Given the description of an element on the screen output the (x, y) to click on. 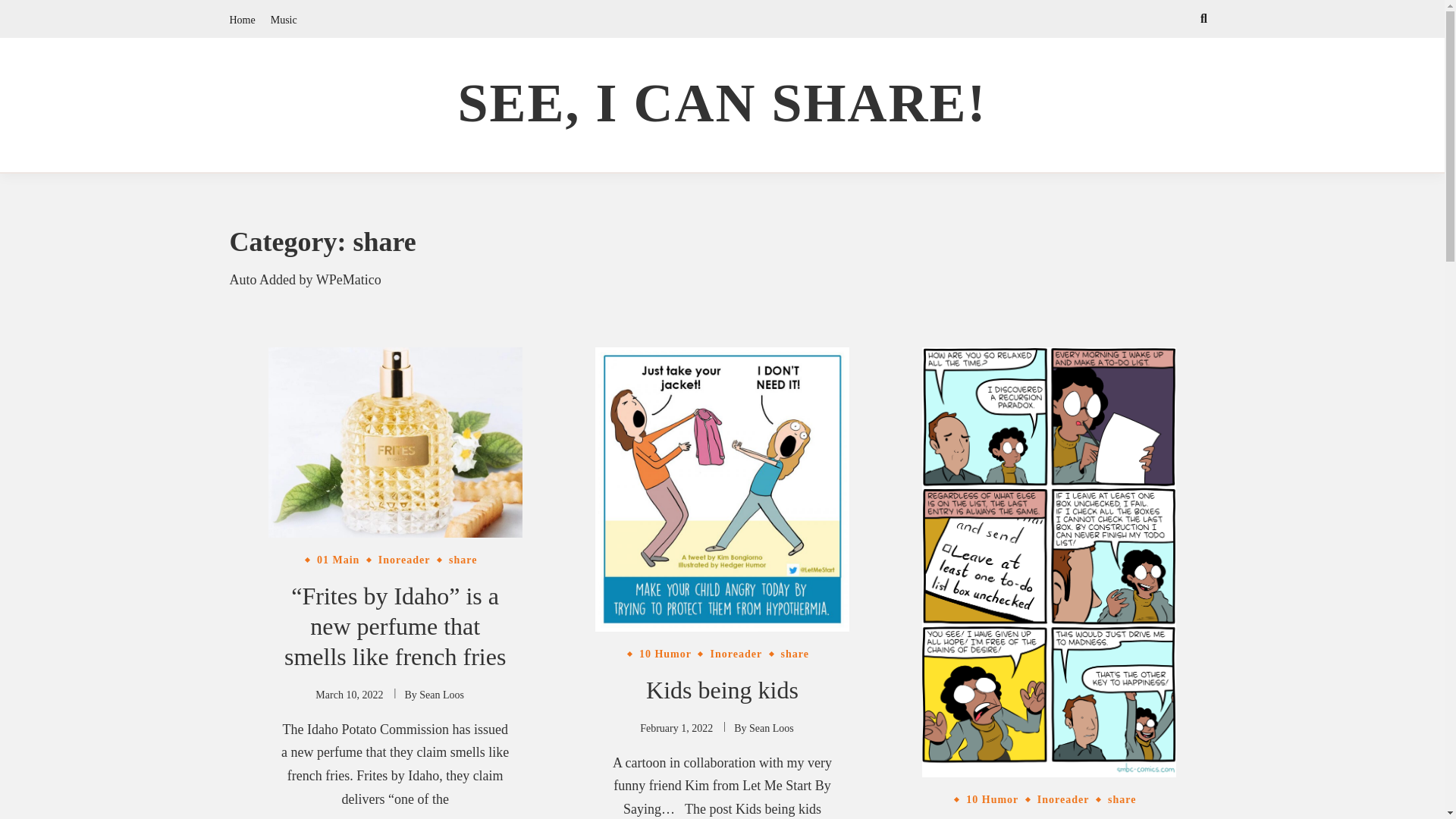
share (1121, 799)
01 Main (337, 560)
Inoreader (1063, 799)
February 1, 2022 (676, 727)
10 Humor (992, 799)
Sean Loos (771, 727)
Sean Loos (441, 695)
Inoreader (735, 654)
Music (283, 19)
Home (241, 19)
